Given the description of an element on the screen output the (x, y) to click on. 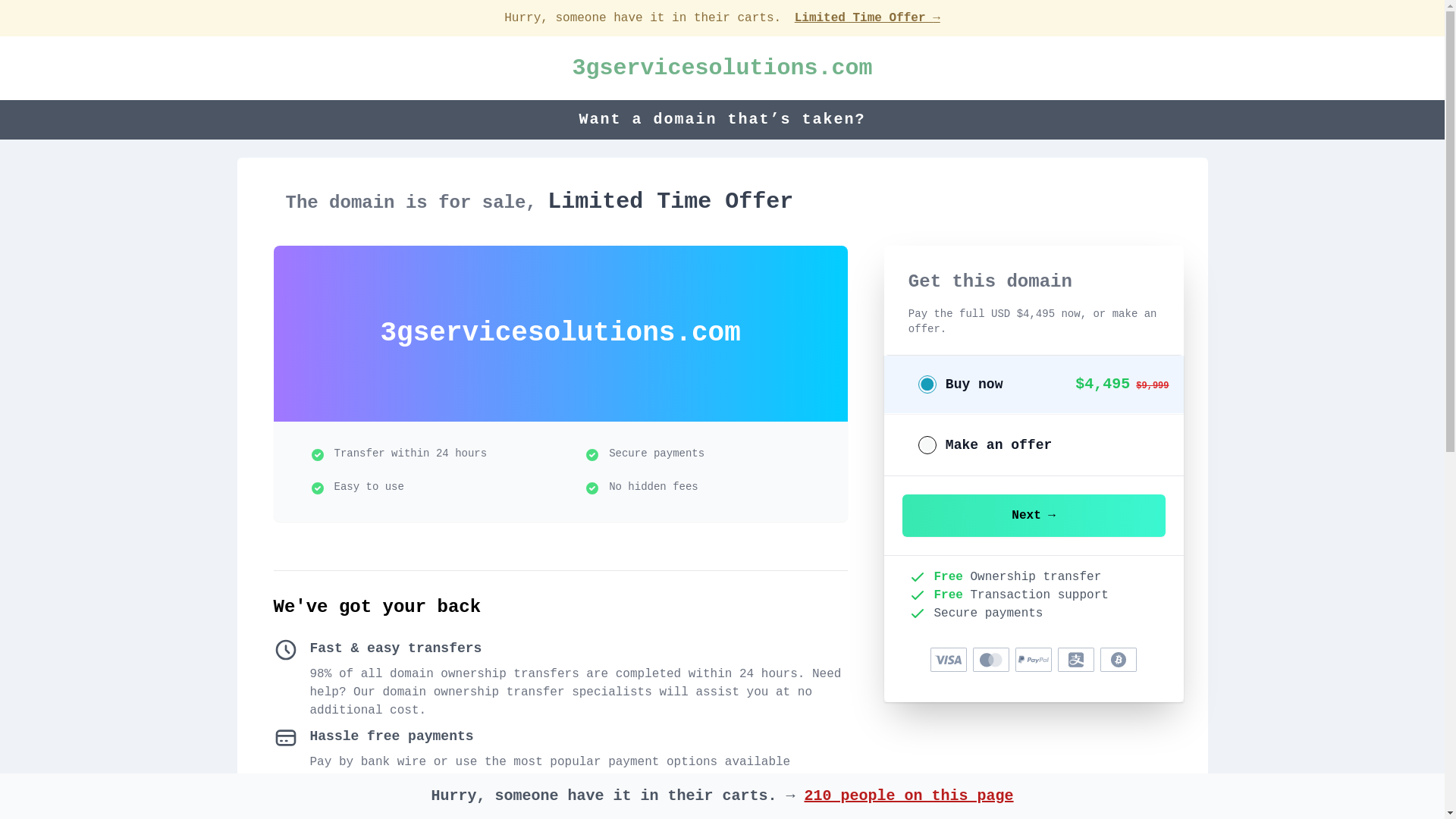
3gservicesolutions.com Element type: text (721, 68)
3gservicesolutions.com Element type: text (721, 67)
